Given the description of an element on the screen output the (x, y) to click on. 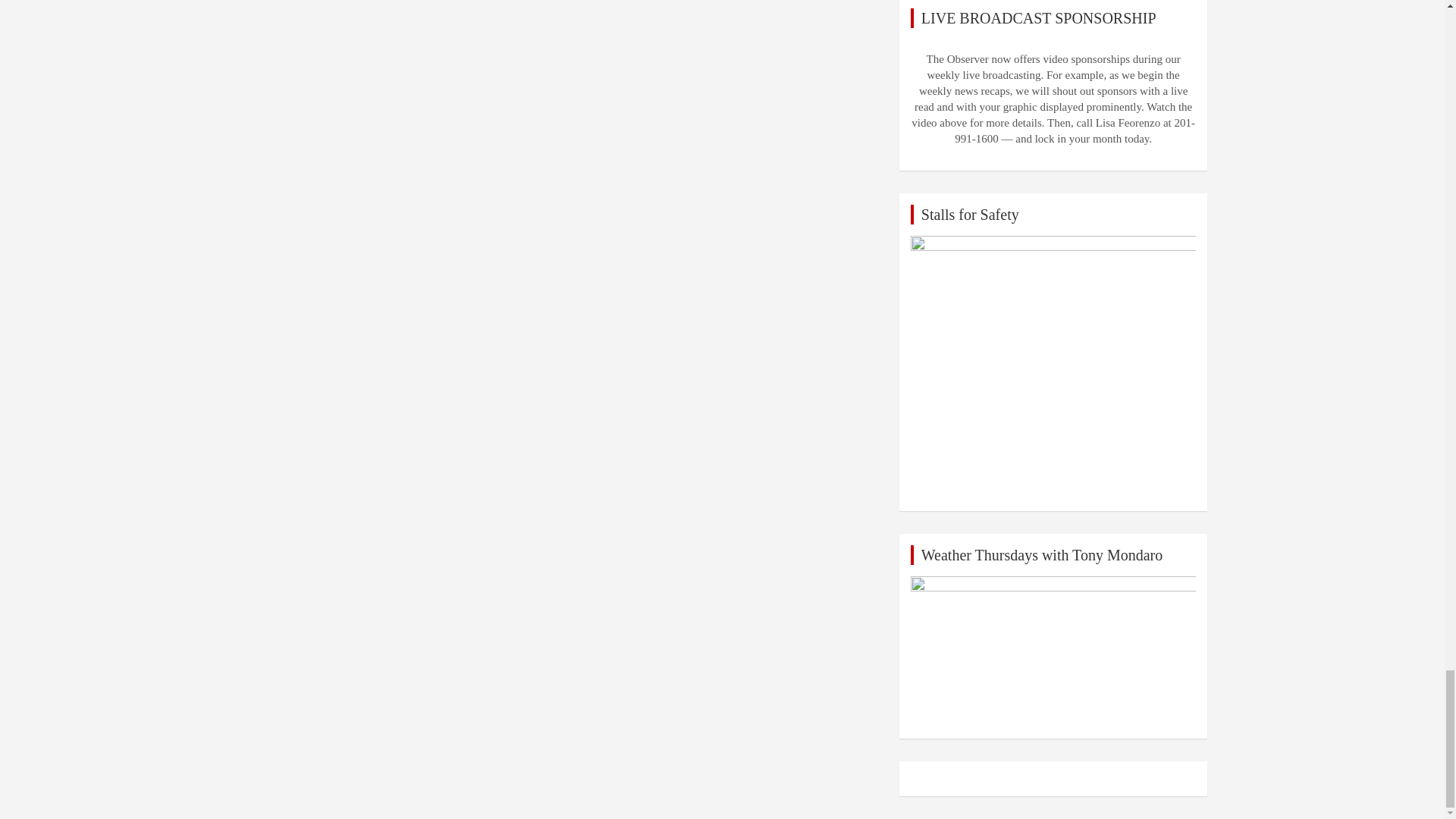
Erick Roofing (1053, 366)
Weather on Fridays with Tony Mondaro (1053, 652)
